Given the description of an element on the screen output the (x, y) to click on. 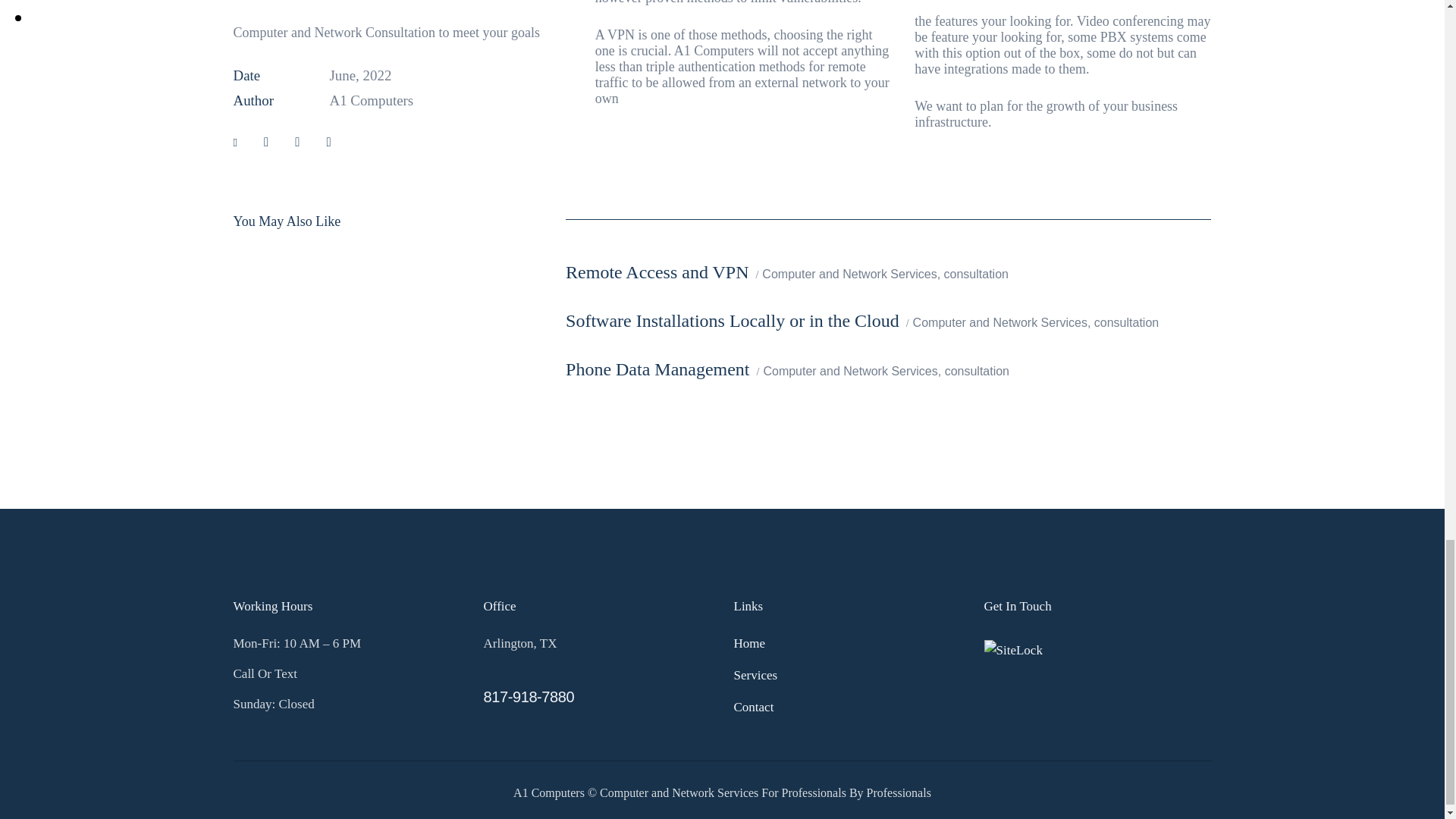
View all posts in consultation (1126, 322)
View all posts in Computer and Network Services (848, 273)
View all posts in Computer and Network Services (849, 371)
SiteLock (1013, 649)
View all posts in consultation (976, 371)
View all posts in Computer and Network Services (999, 322)
View all posts in consultation (976, 273)
